Given the description of an element on the screen output the (x, y) to click on. 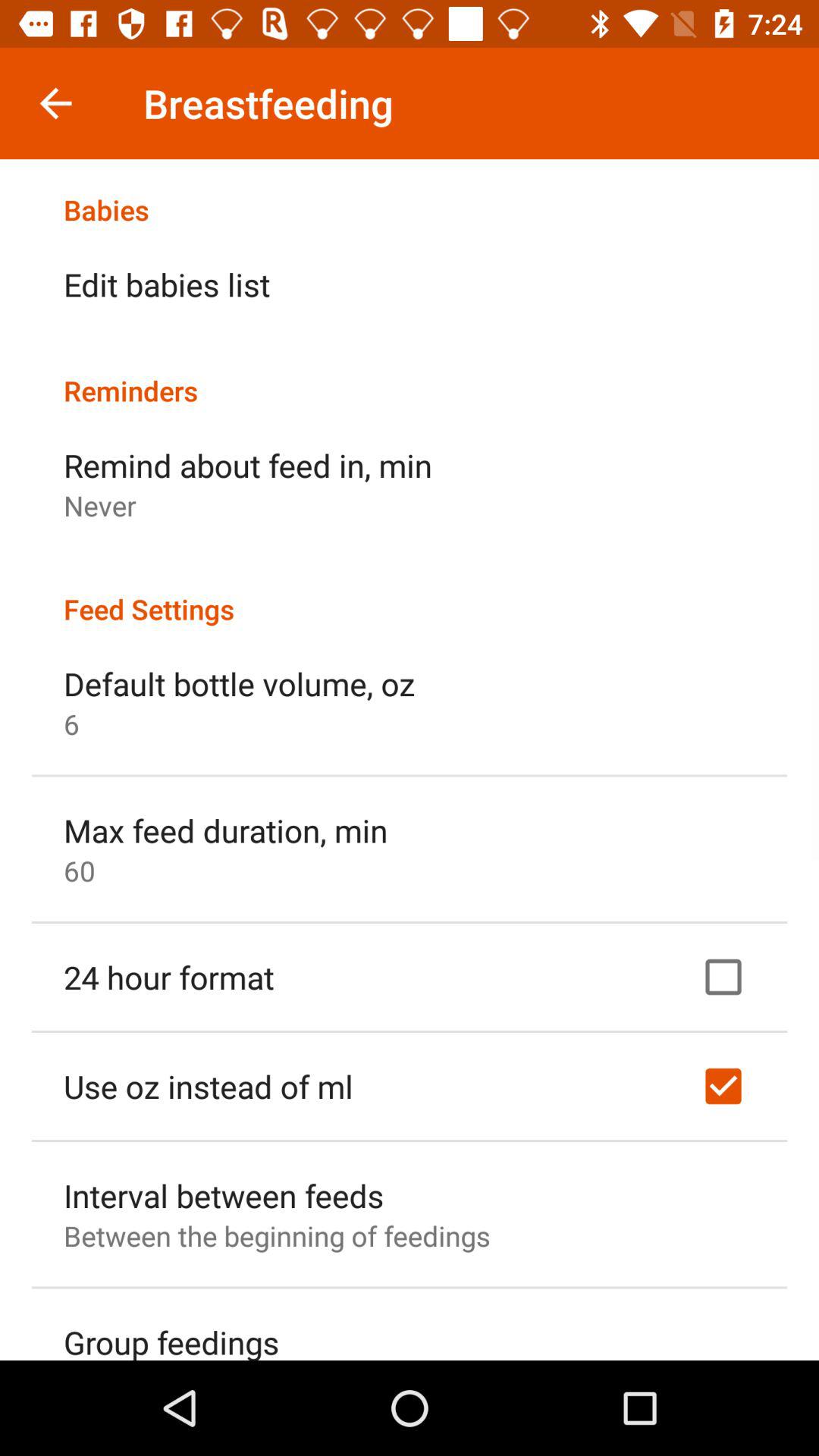
press icon to the left of the breastfeeding item (55, 103)
